Given the description of an element on the screen output the (x, y) to click on. 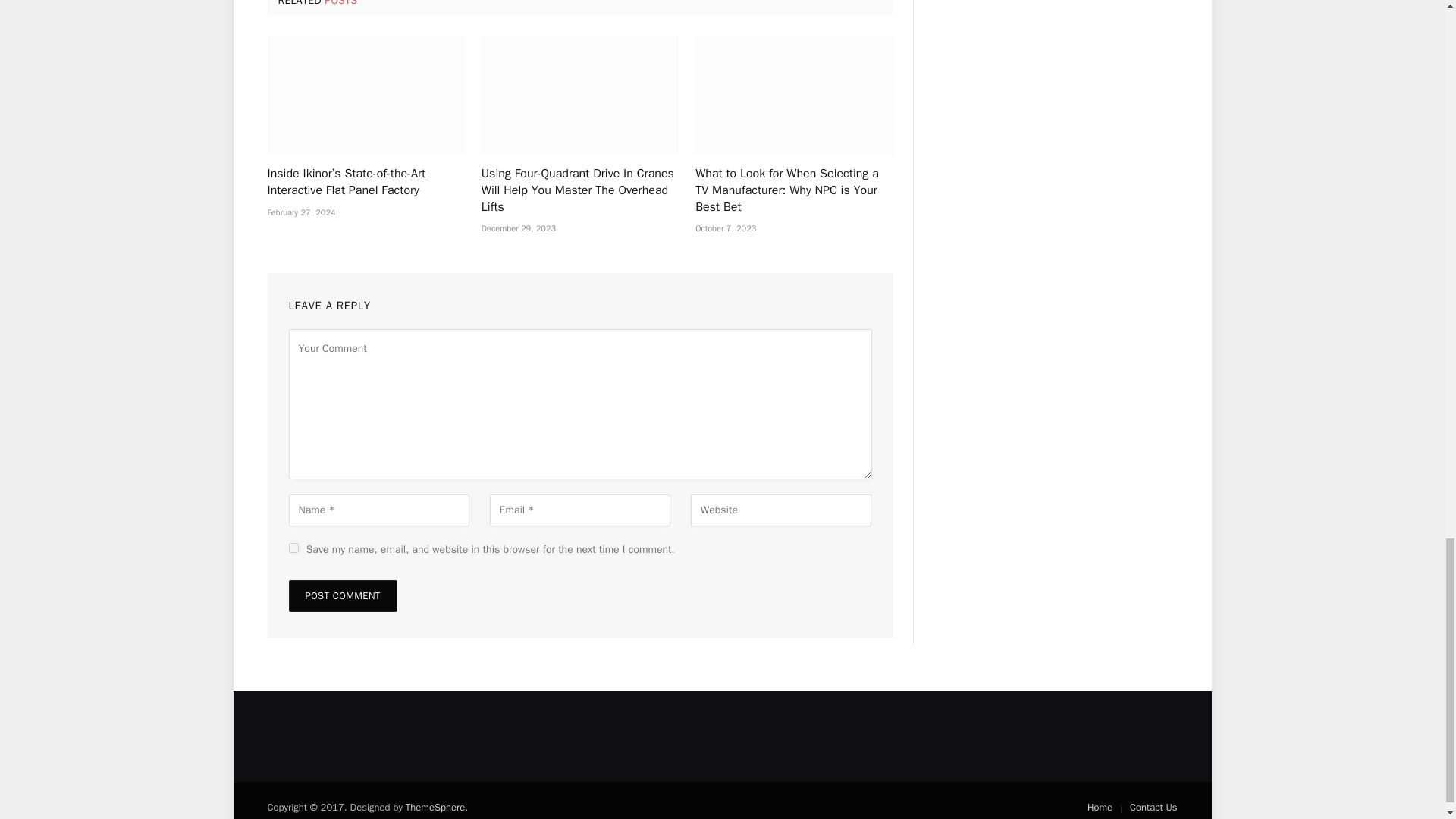
Post Comment (342, 595)
yes (293, 547)
